Given the description of an element on the screen output the (x, y) to click on. 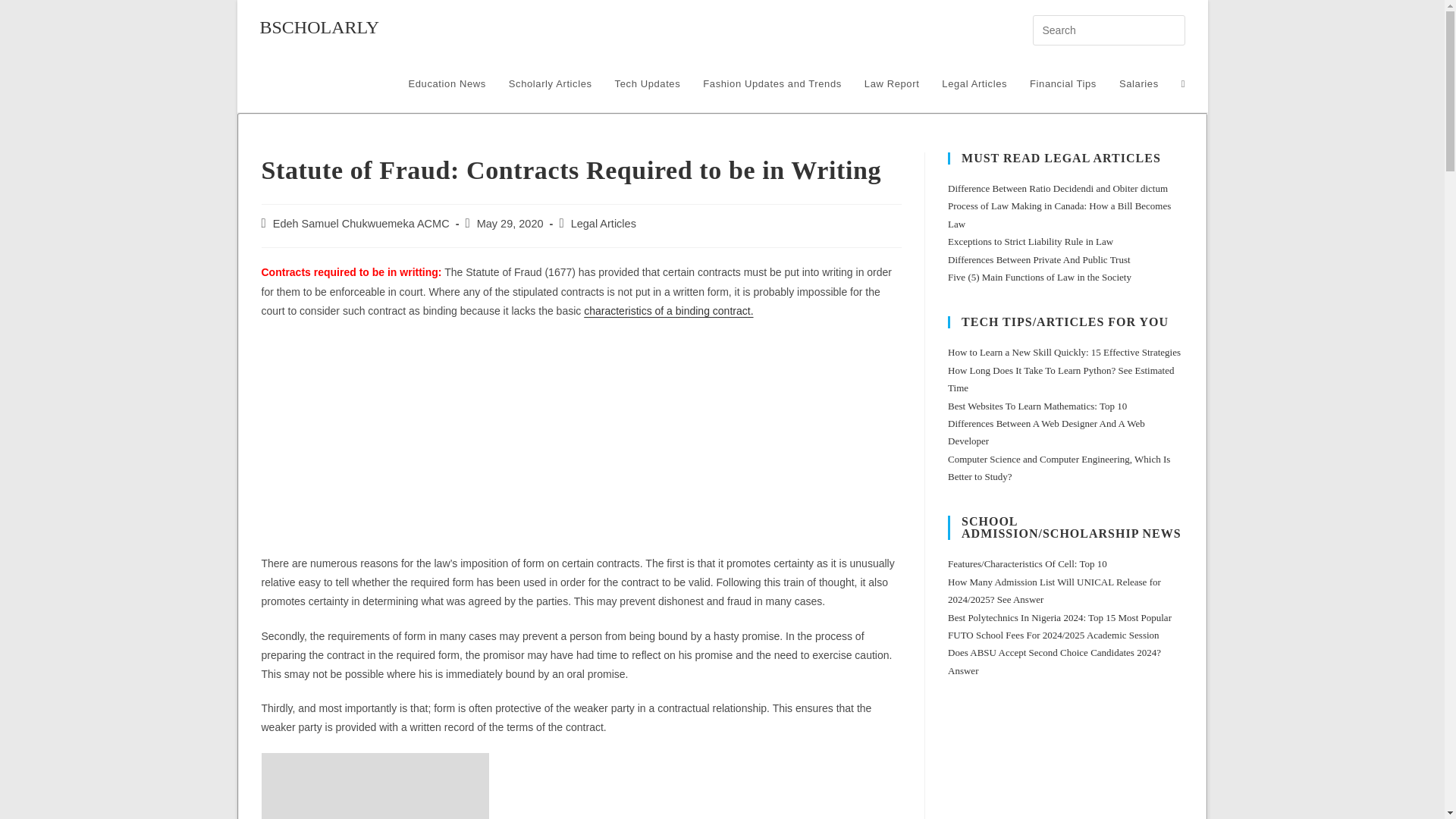
Legal Articles (603, 223)
BSCHOLARLY (318, 26)
characteristics of a binding contract. (667, 310)
Edeh Samuel Chukwuemeka ACMC (361, 223)
Posts by Edeh Samuel Chukwuemeka ACMC (361, 223)
Salaries (1139, 84)
Legal Articles (973, 84)
Scholarly Articles (550, 84)
Tech Updates (648, 84)
Fashion Updates and Trends (772, 84)
Law Report (891, 84)
Financial Tips (1062, 84)
Education News (446, 84)
